Given the description of an element on the screen output the (x, y) to click on. 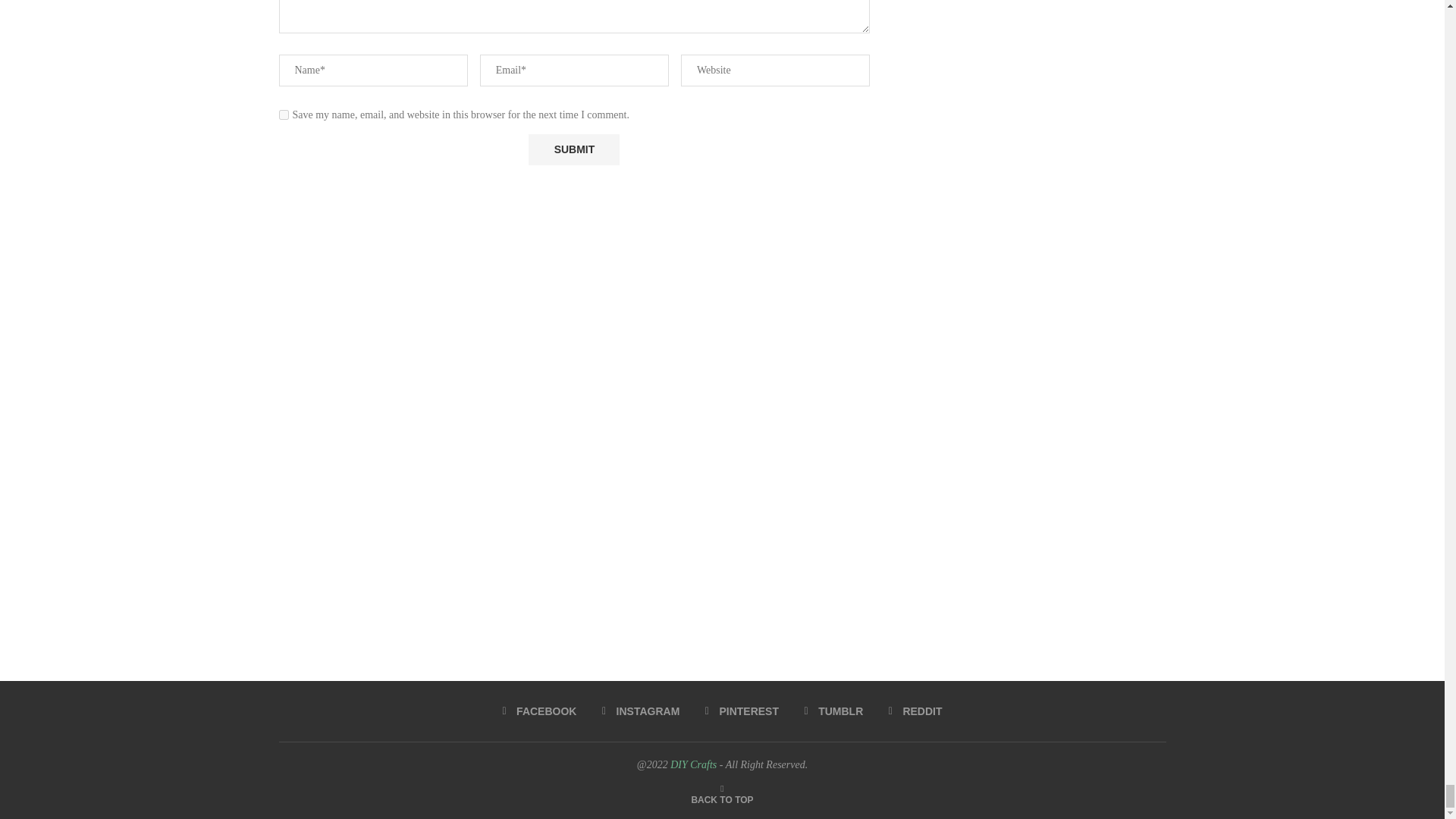
Submit (574, 149)
yes (283, 114)
